Given the description of an element on the screen output the (x, y) to click on. 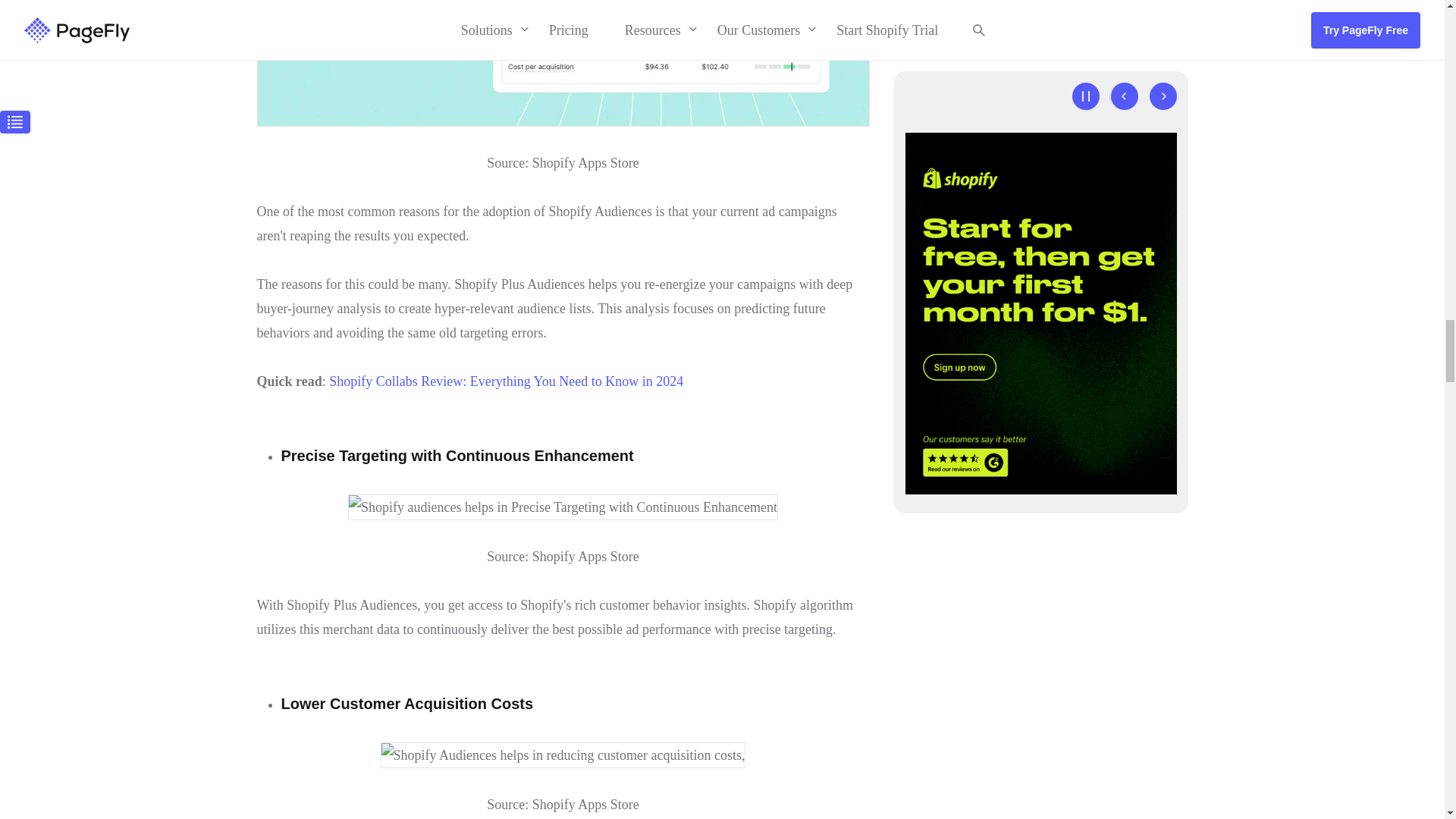
shopify collabs app (505, 381)
